Given the description of an element on the screen output the (x, y) to click on. 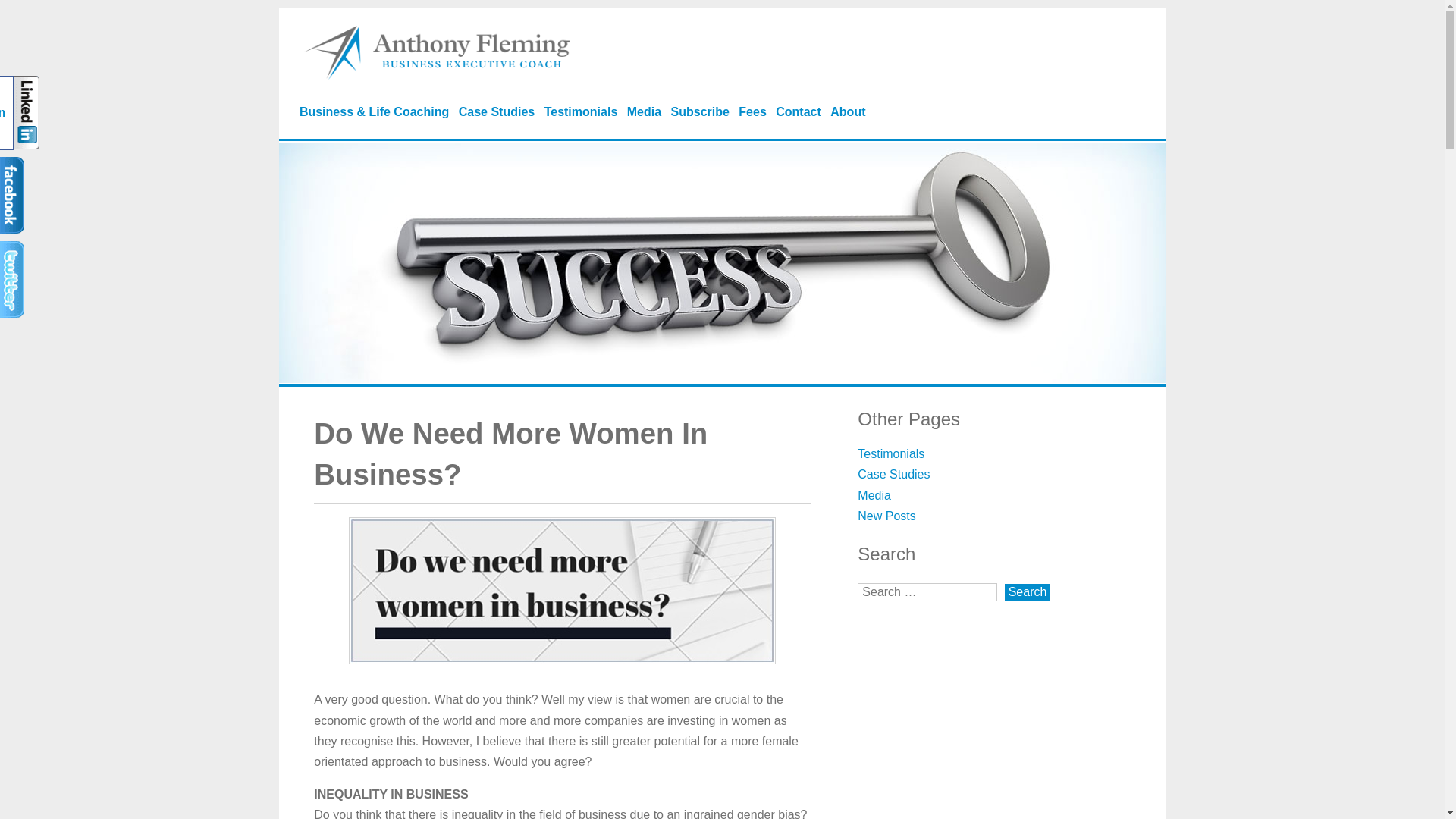
Search (1027, 591)
Media (874, 495)
Case Studies (893, 473)
Testimonials (581, 111)
Search (1027, 591)
Contact (798, 111)
New Posts (886, 515)
About (847, 111)
Anthony Fleming (436, 74)
Fees (751, 111)
